Given the description of an element on the screen output the (x, y) to click on. 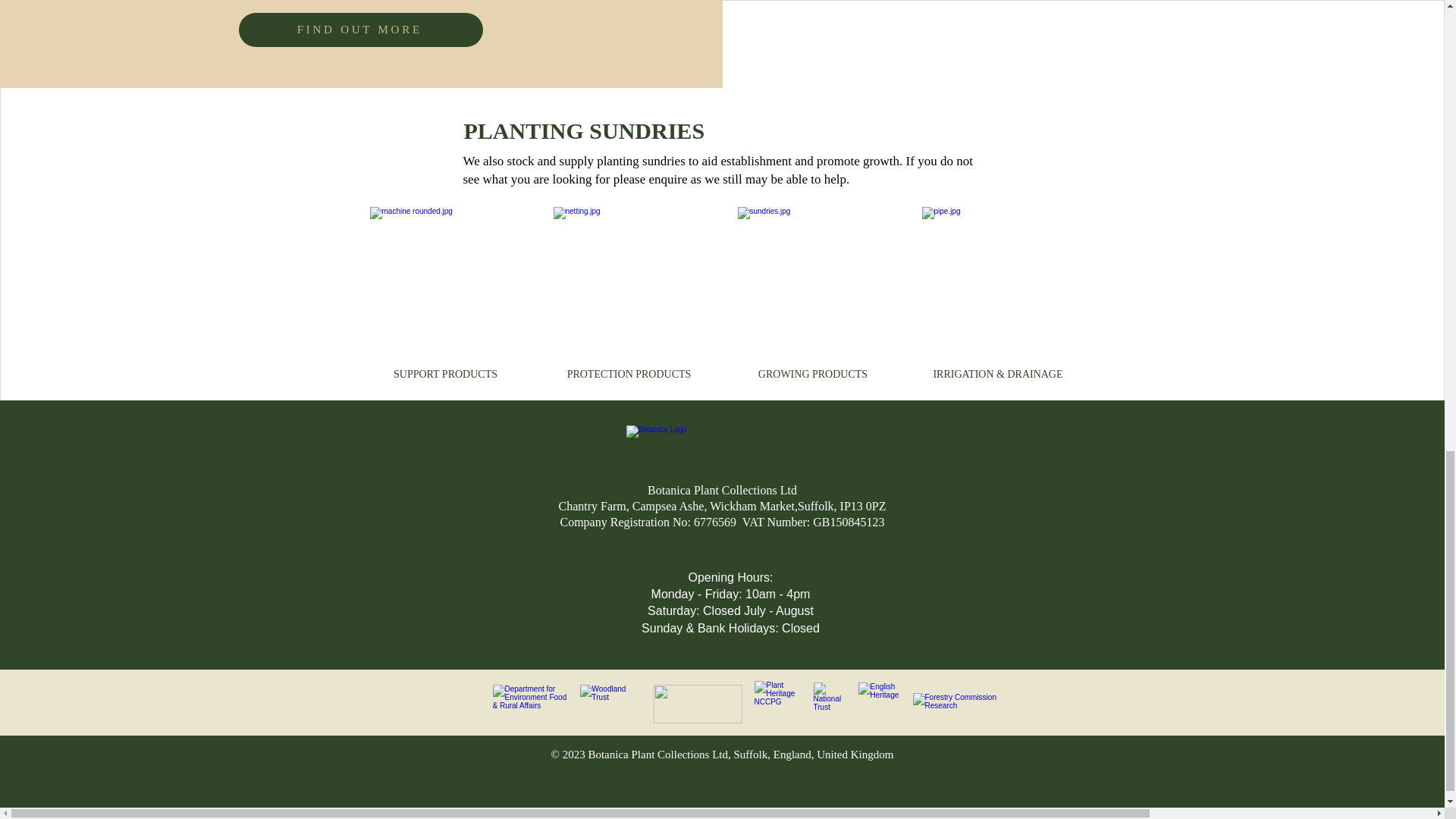
FIND OUT MORE (360, 29)
SUPPORT PRODUCTS (445, 373)
PROTECTION PRODUCTS (629, 373)
